Given the description of an element on the screen output the (x, y) to click on. 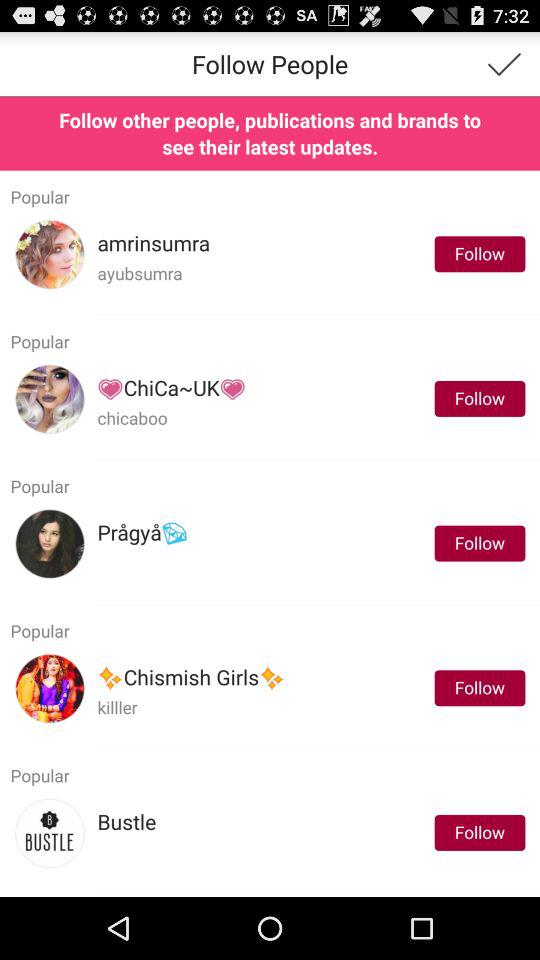
turn off the item next to follow app (142, 532)
